Given the description of an element on the screen output the (x, y) to click on. 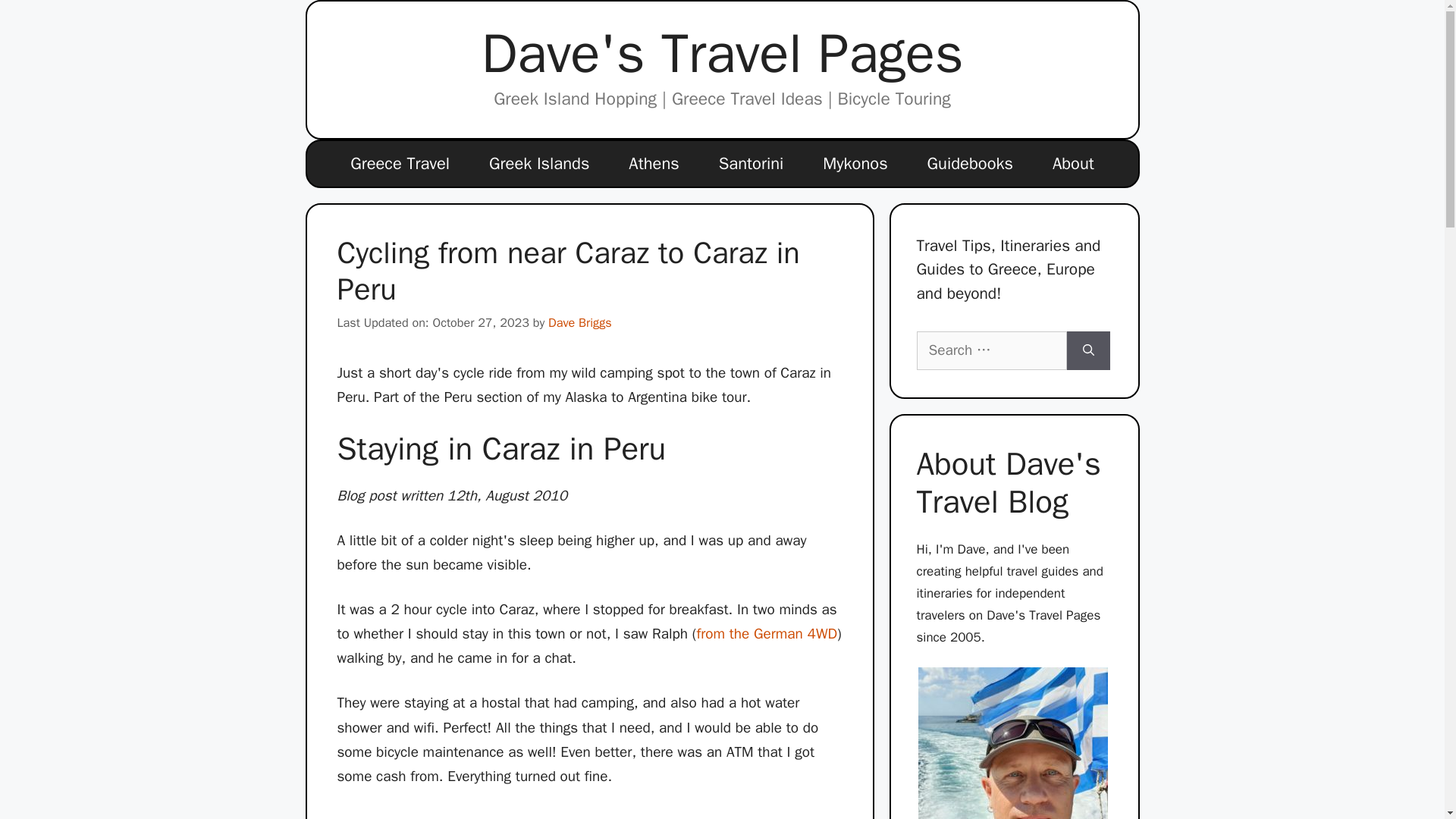
Greece Travel (399, 163)
Search for: (990, 350)
Greek Islands (538, 163)
Santorini (750, 163)
Dave's Travel Pages (722, 53)
About (1072, 163)
Dave Briggs (579, 322)
from the German 4WD (766, 633)
Mykonos (855, 163)
Guidebooks (969, 163)
View all posts by Dave Briggs (579, 322)
Athens (653, 163)
